Given the description of an element on the screen output the (x, y) to click on. 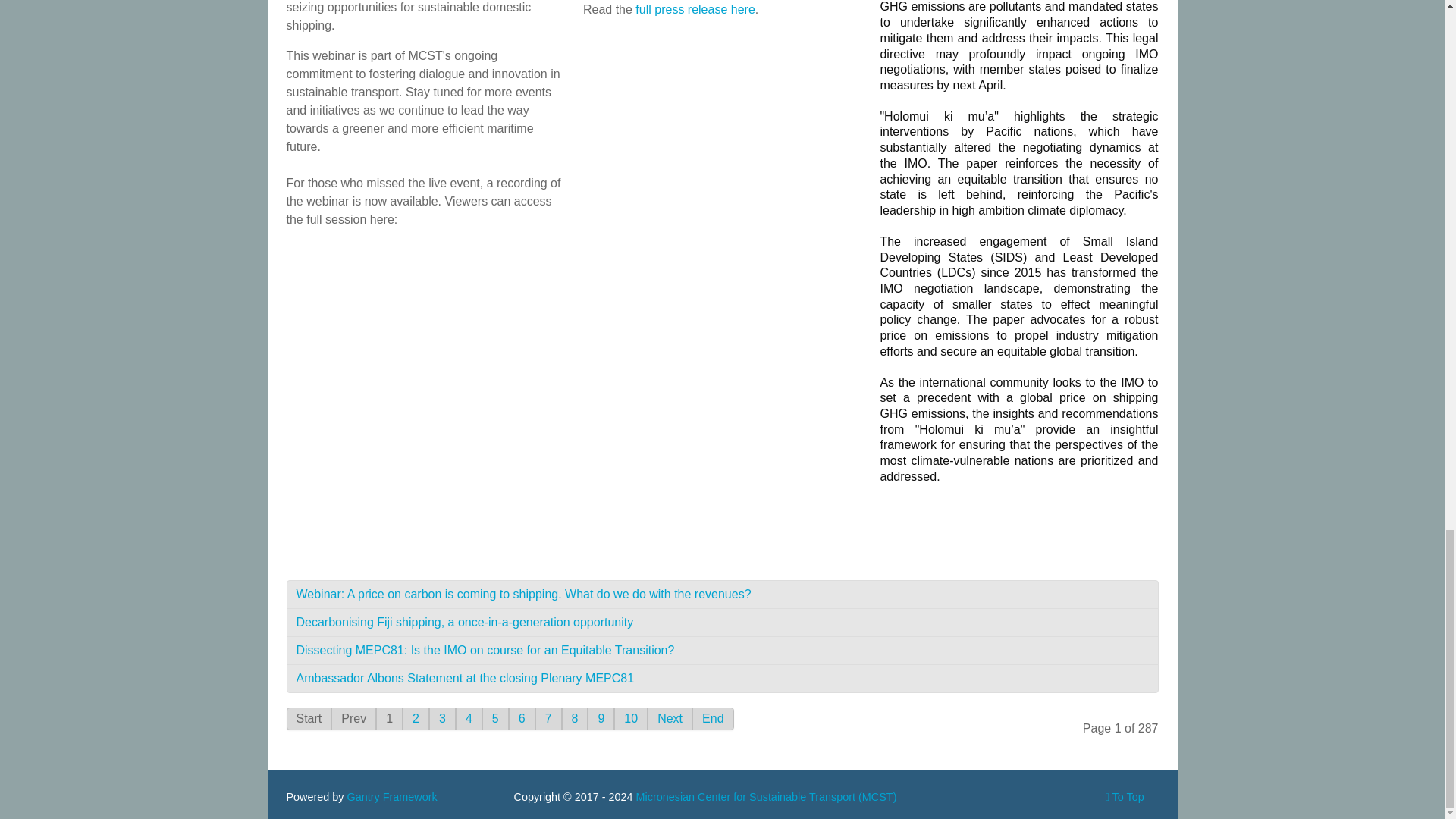
YouTube video player (425, 392)
